Given the description of an element on the screen output the (x, y) to click on. 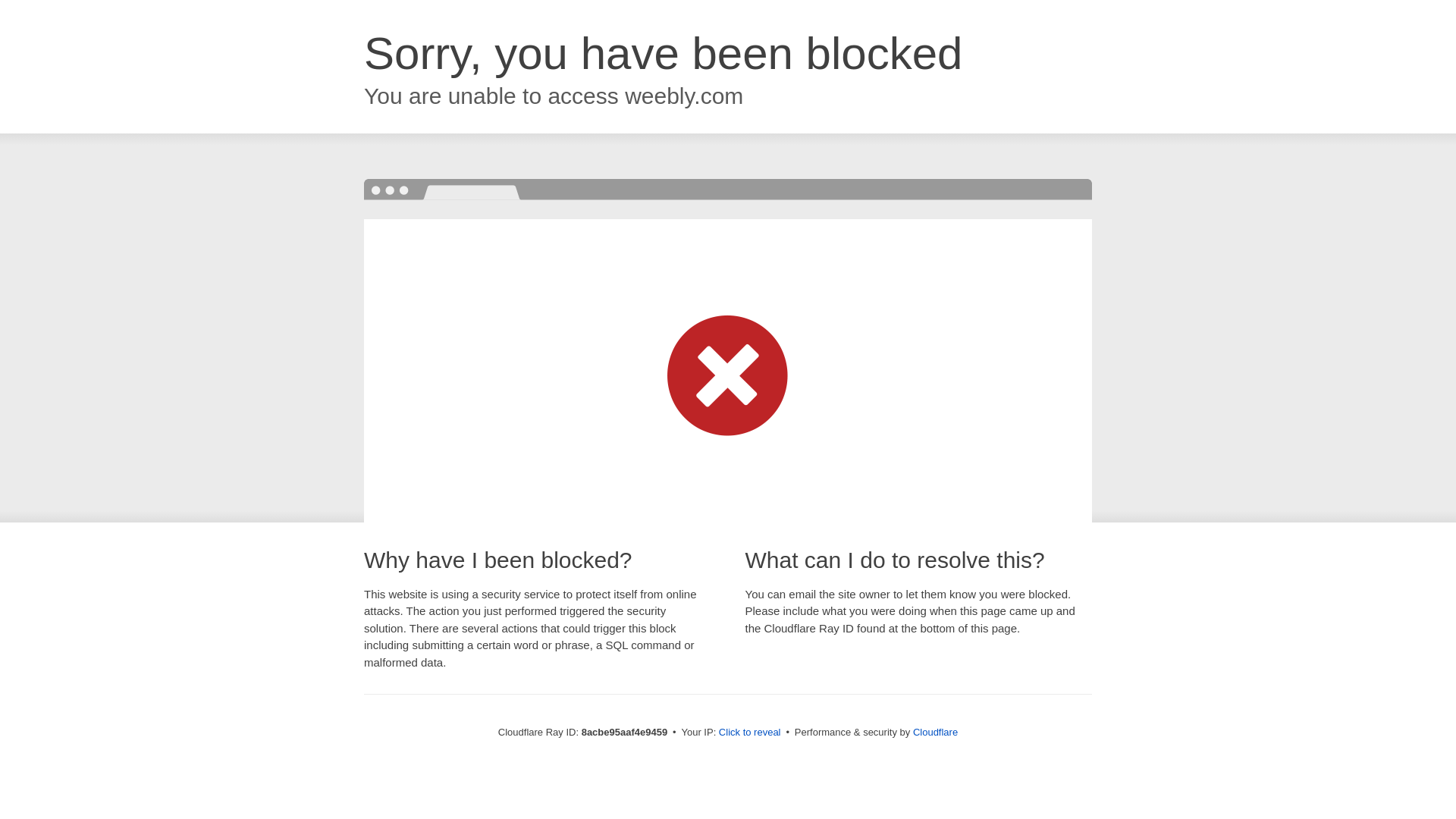
Cloudflare (935, 731)
Click to reveal (749, 732)
